Given the description of an element on the screen output the (x, y) to click on. 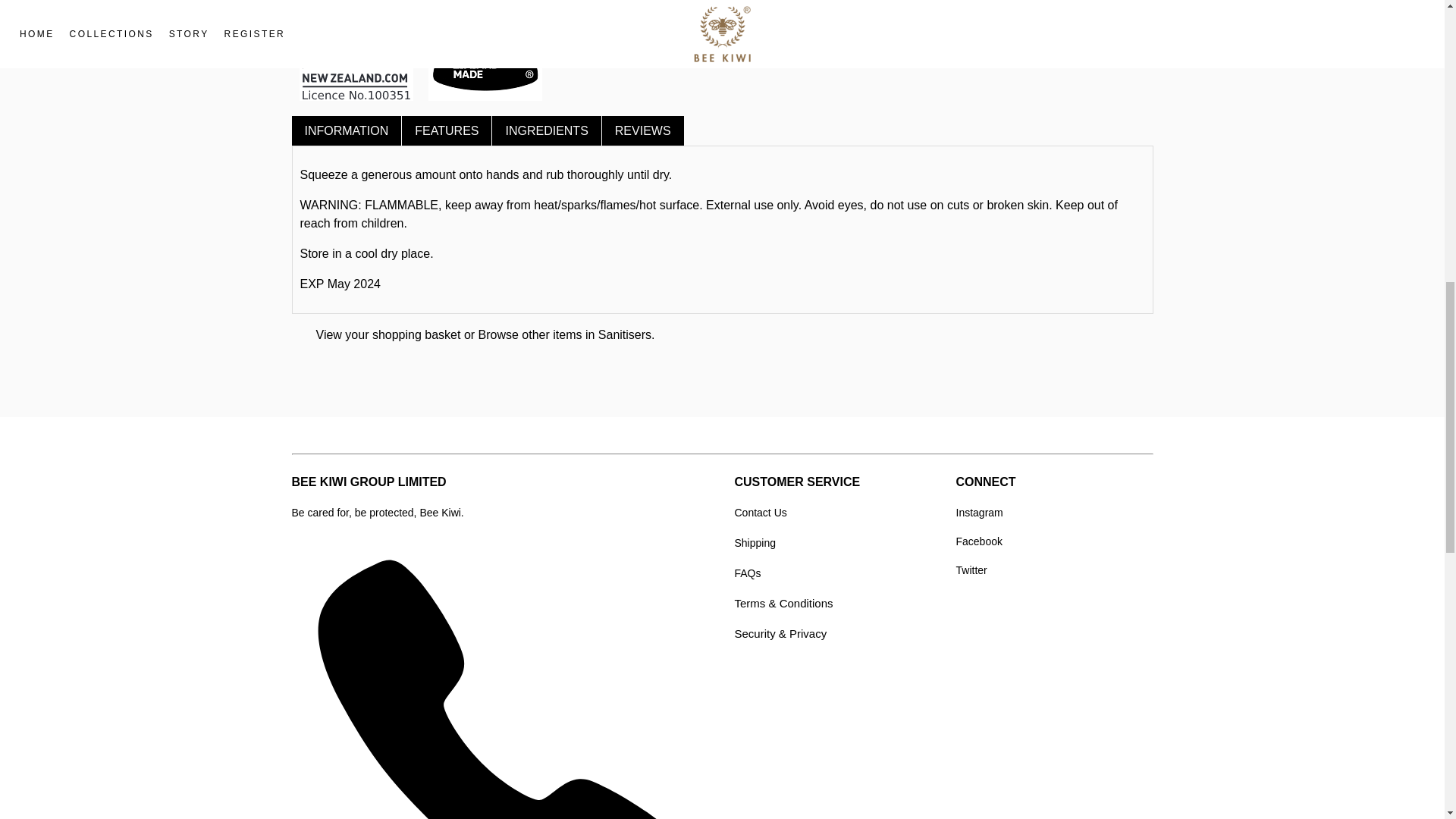
FEATURES (446, 130)
Shipping (754, 542)
Instagram (979, 512)
FAQs (746, 573)
INFORMATION (346, 130)
Browse other items in Sanitisers (565, 334)
Contact Us (759, 512)
View your shopping basket (387, 334)
REVIEWS (643, 130)
INGREDIENTS (545, 130)
